Given the description of an element on the screen output the (x, y) to click on. 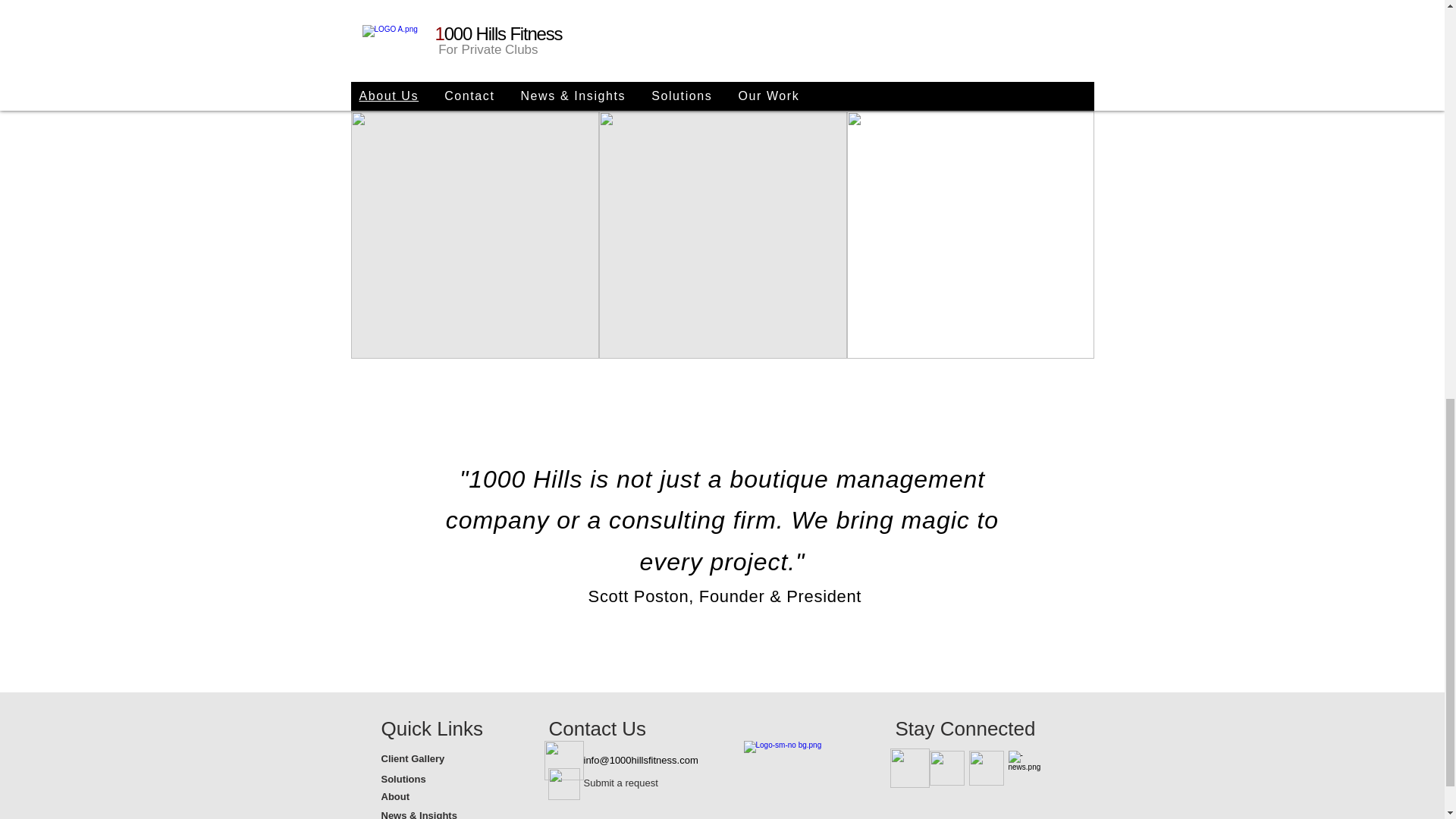
About (433, 796)
Solutions (433, 779)
Submit a request (637, 783)
Client Gallery (433, 759)
